Given the description of an element on the screen output the (x, y) to click on. 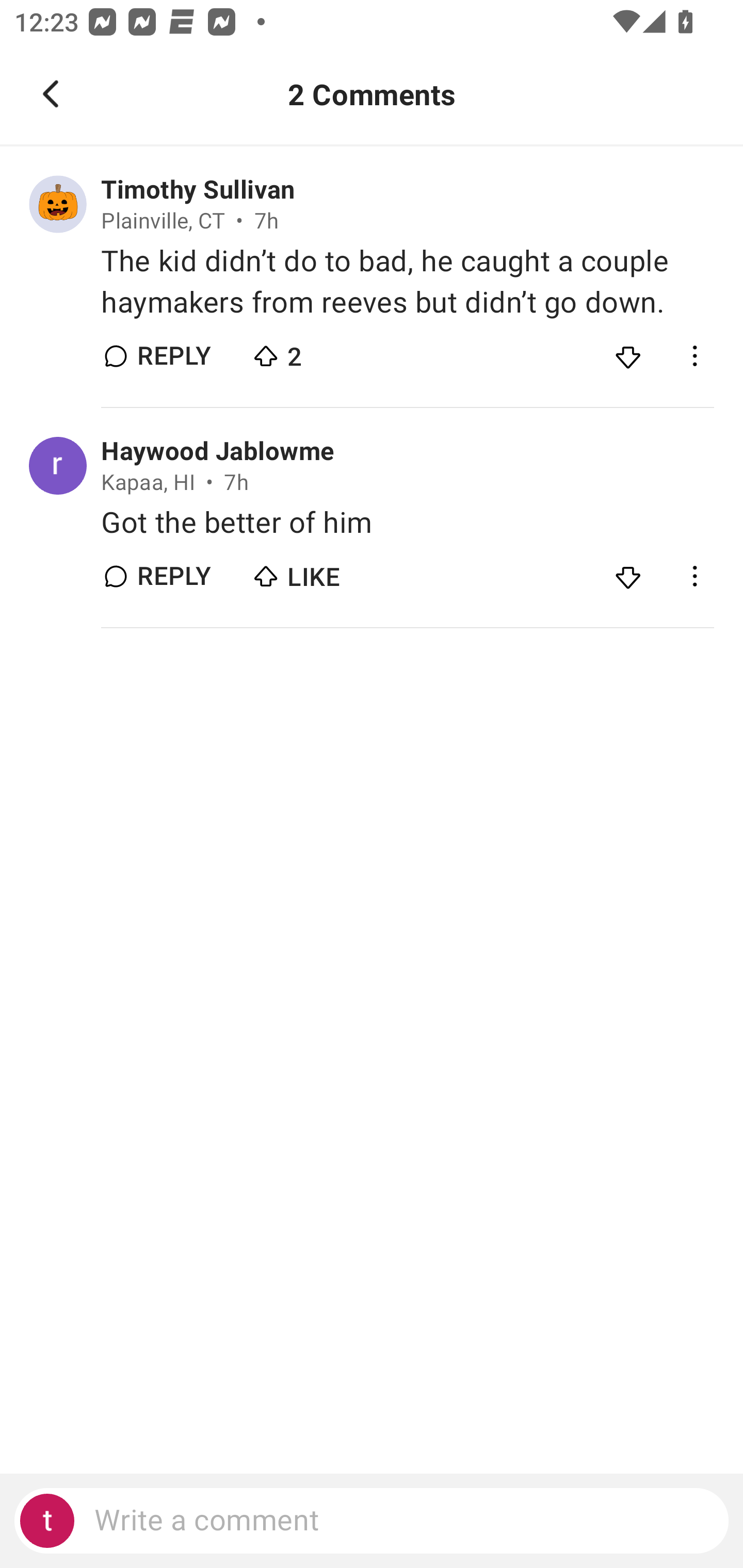
Navigate up (50, 93)
Timothy Sullivan (197, 190)
2 (320, 351)
REPLY (173, 356)
Haywood Jablowme (217, 451)
Got the better of him (407, 522)
LIKE (320, 571)
REPLY (173, 576)
Write a comment (371, 1520)
